Given the description of an element on the screen output the (x, y) to click on. 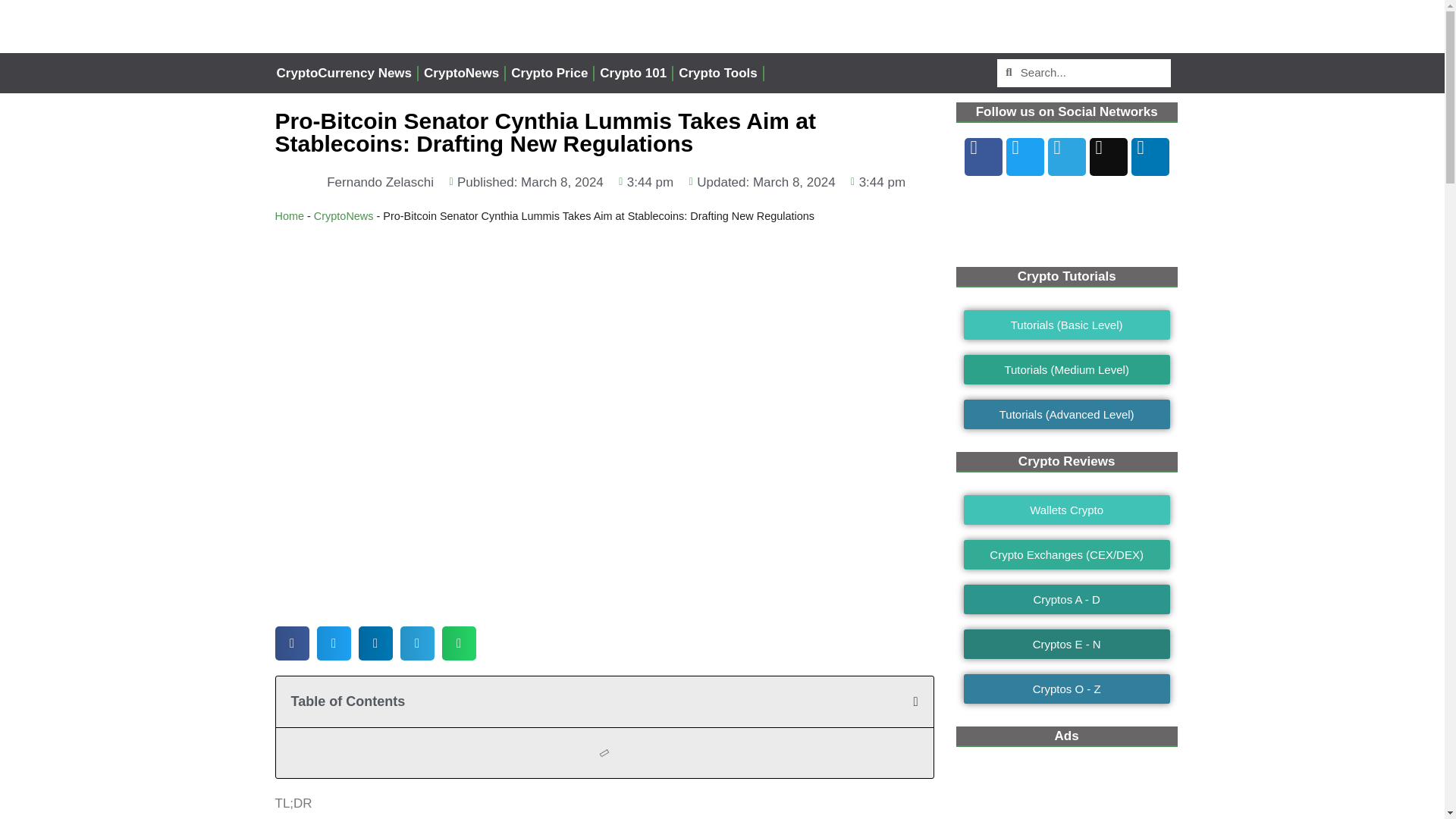
Crypto 101 (632, 72)
CryptoNews (461, 72)
Crypto Price (548, 72)
CryptoCurrency News (343, 72)
